Given the description of an element on the screen output the (x, y) to click on. 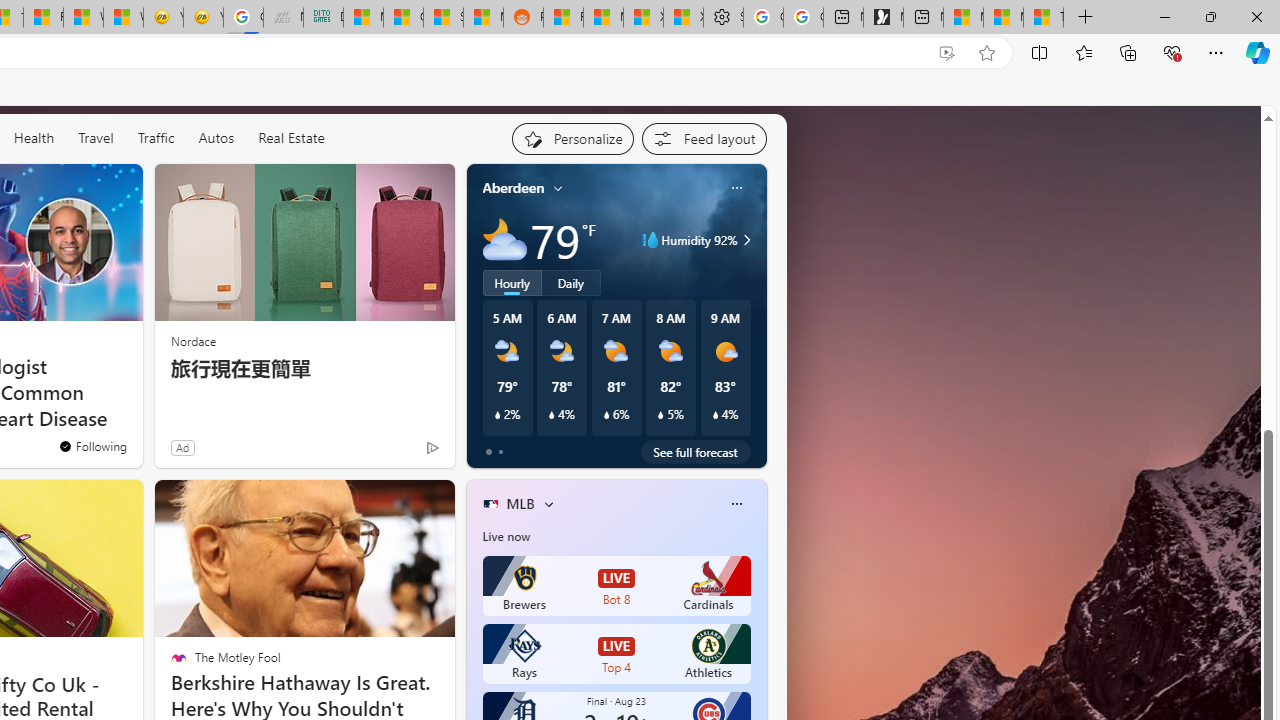
Aberdeen (513, 188)
MSNBC - MSN (363, 17)
More interests (548, 503)
tab-0 (488, 451)
Traffic (155, 137)
